Given the description of an element on the screen output the (x, y) to click on. 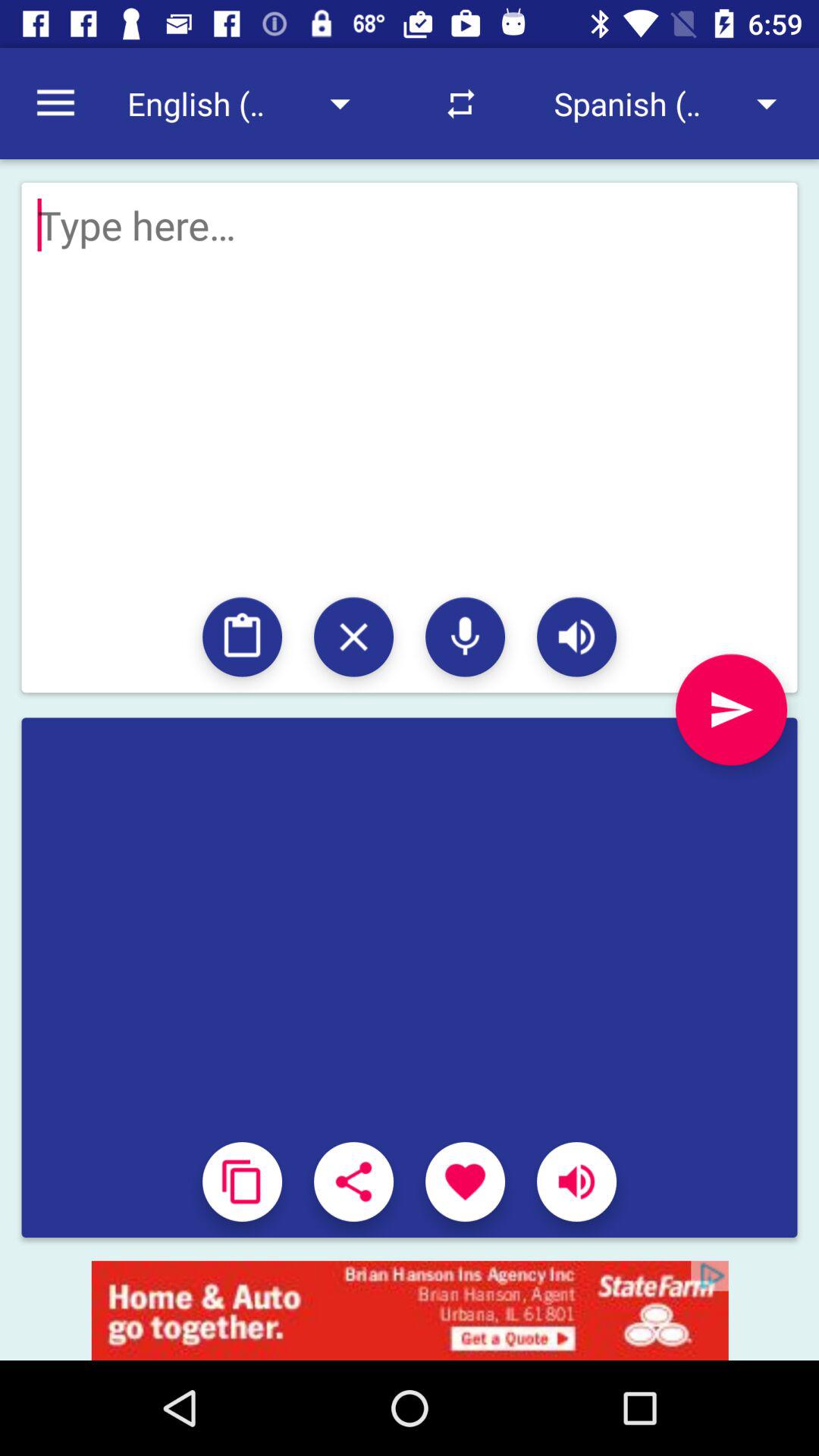
for share option (353, 1181)
